Given the description of an element on the screen output the (x, y) to click on. 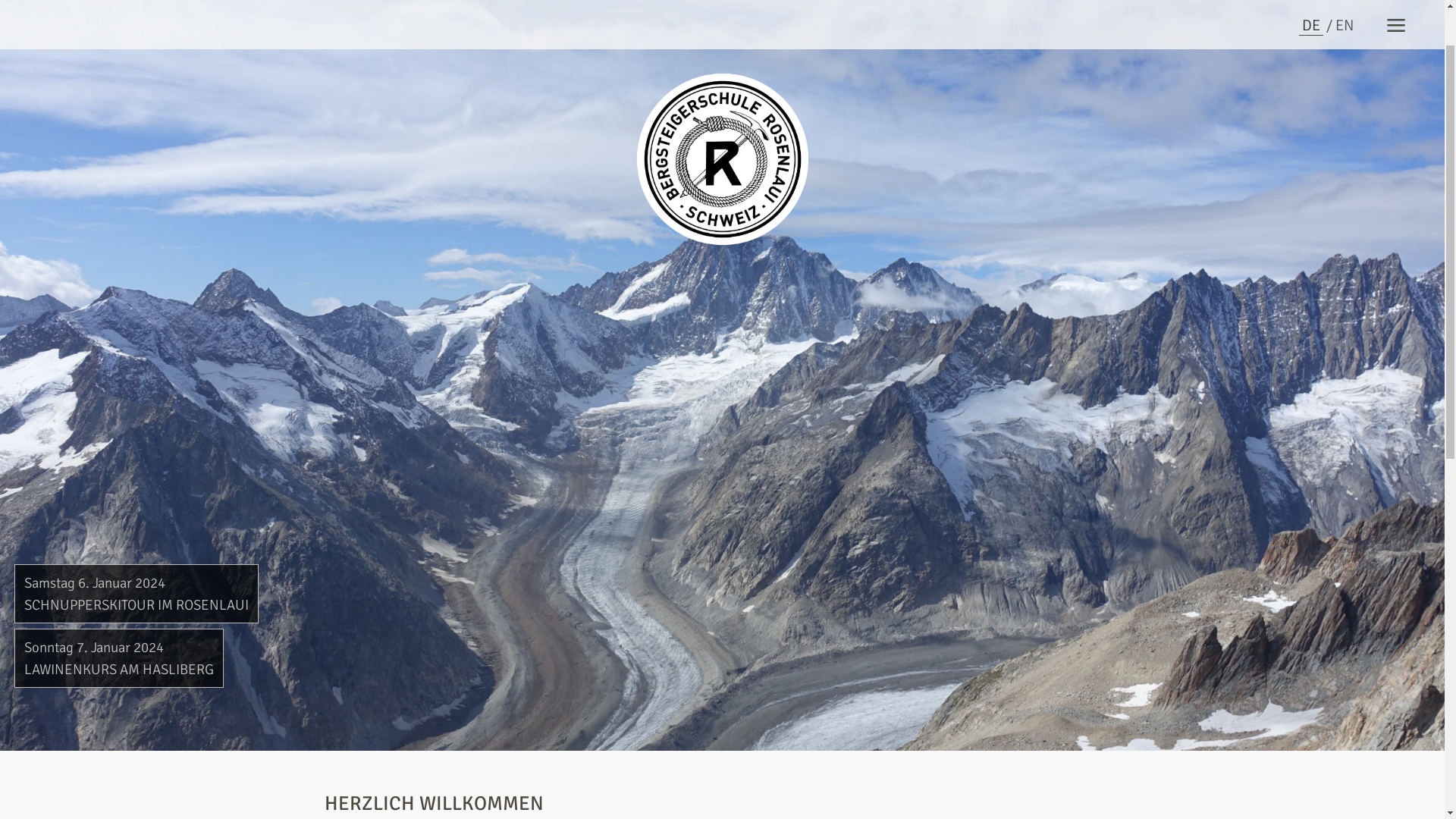
Samstag 6. Januar 2024
SCHNUPPERSKITOUR IM ROSENLAUI Element type: text (136, 661)
EN Element type: text (1344, 93)
DE Element type: text (1311, 93)
Sonntag 7. Januar 2024
LAWINENKURS AM HASLIBERG Element type: text (118, 726)
